Given the description of an element on the screen output the (x, y) to click on. 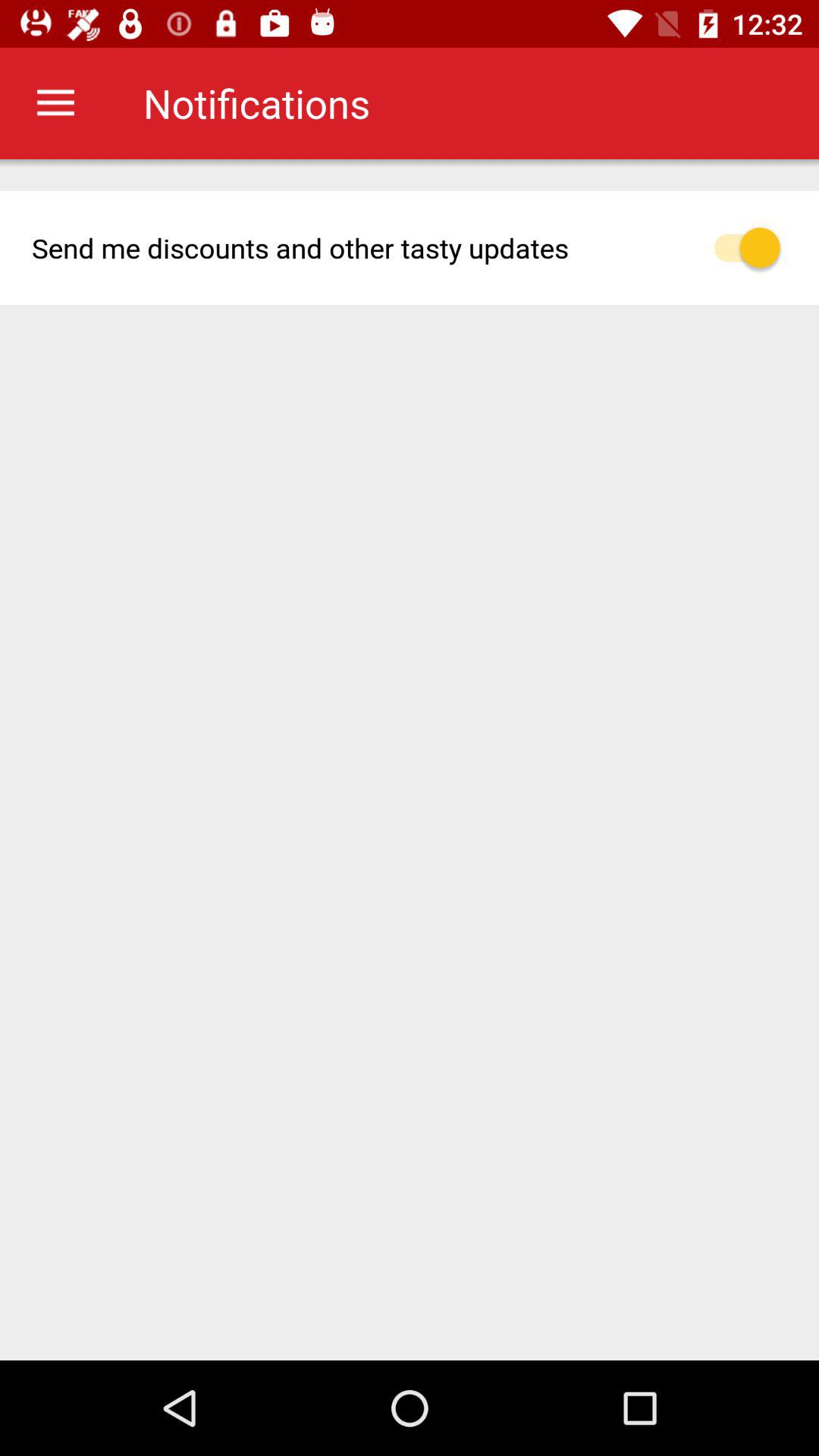
toggle notifications option (755, 247)
